Given the description of an element on the screen output the (x, y) to click on. 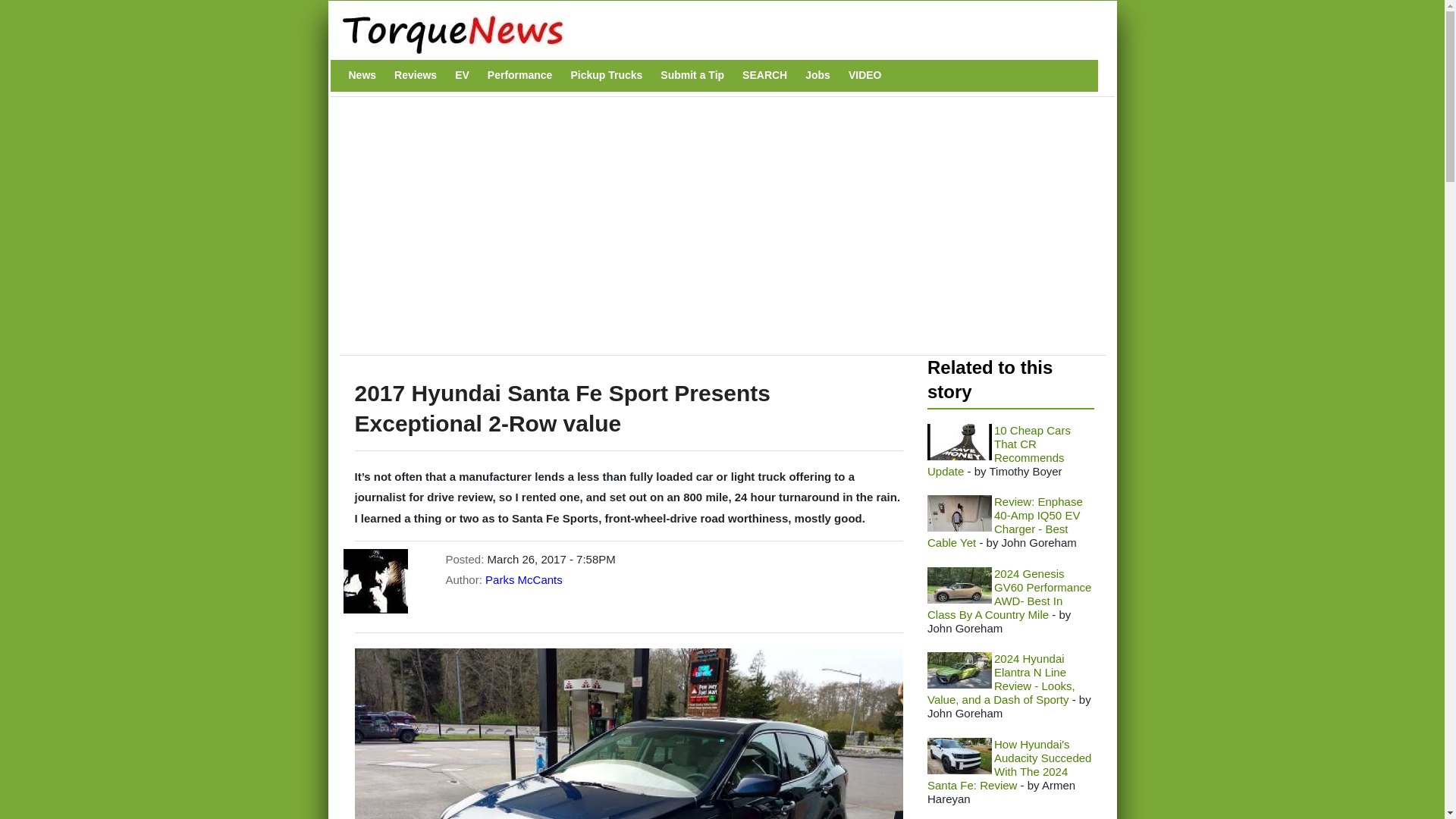
Pickup Trucks (605, 75)
Reviews (415, 75)
News (362, 75)
Advertisement (624, 233)
Jobs (817, 75)
Image of Enphase IQ50 EV charger by John Goreham (959, 513)
SEARCH (764, 75)
Performance (520, 75)
News (362, 75)
Home (713, 32)
Parks McCants (523, 579)
View user profile. (523, 579)
Automotive journalism jobs and careers are TorqueNews.com. (817, 75)
Submit a Tip (691, 75)
